Given the description of an element on the screen output the (x, y) to click on. 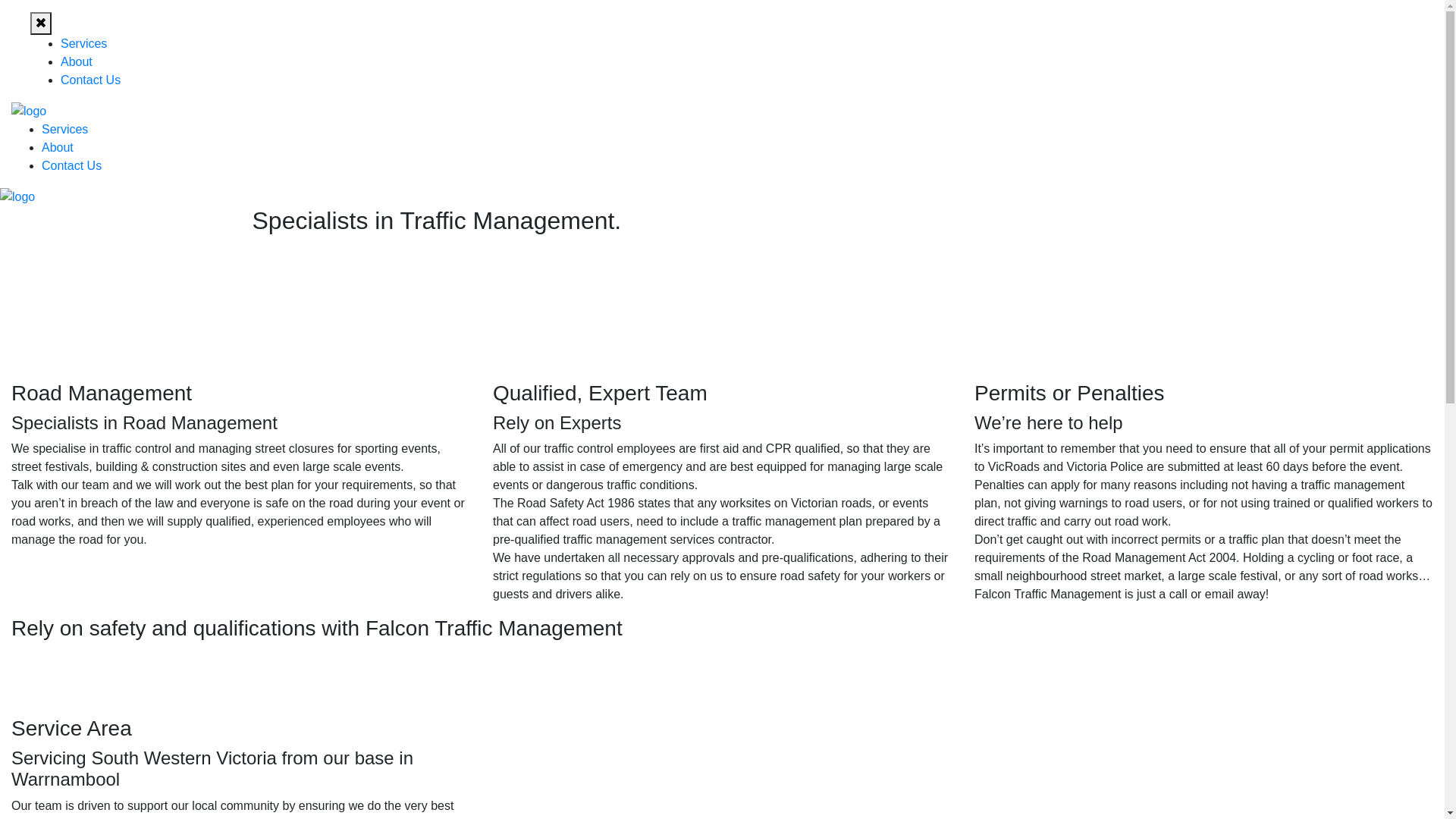
Services Element type: text (83, 43)
Contact Us Element type: text (71, 165)
Contact Us Element type: text (90, 79)
About Element type: text (57, 147)
About Element type: text (76, 61)
Services Element type: text (64, 128)
